Given the description of an element on the screen output the (x, y) to click on. 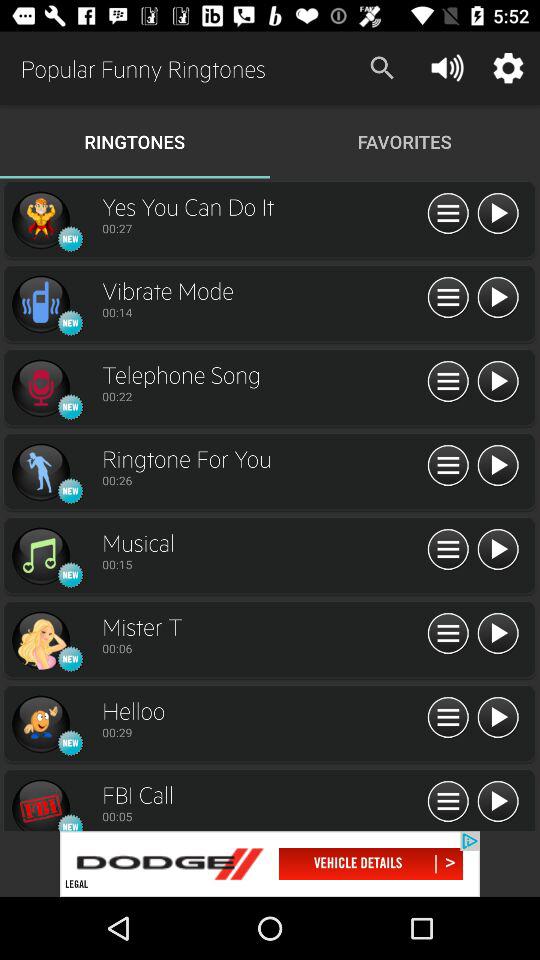
dodge advertisement (270, 864)
